Given the description of an element on the screen output the (x, y) to click on. 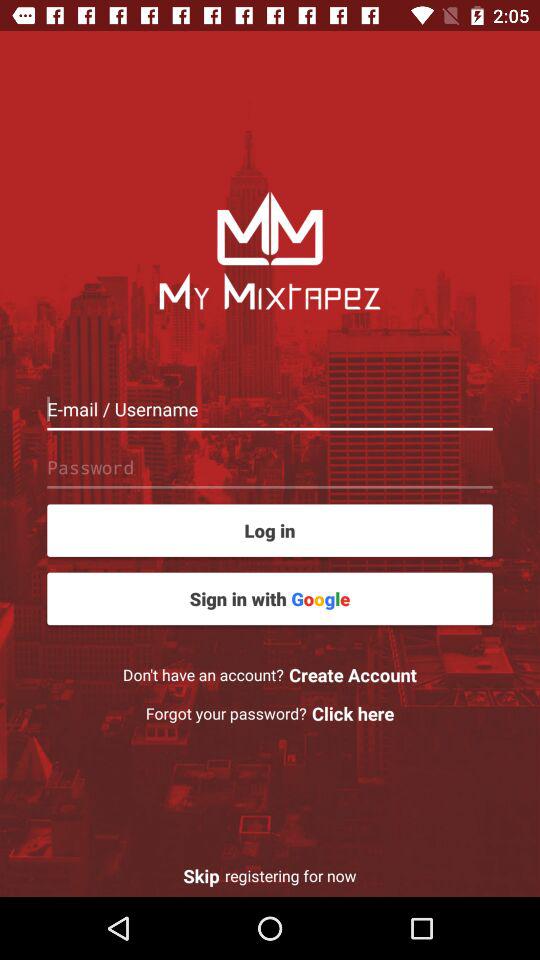
enter into the box (270, 408)
